Given the description of an element on the screen output the (x, y) to click on. 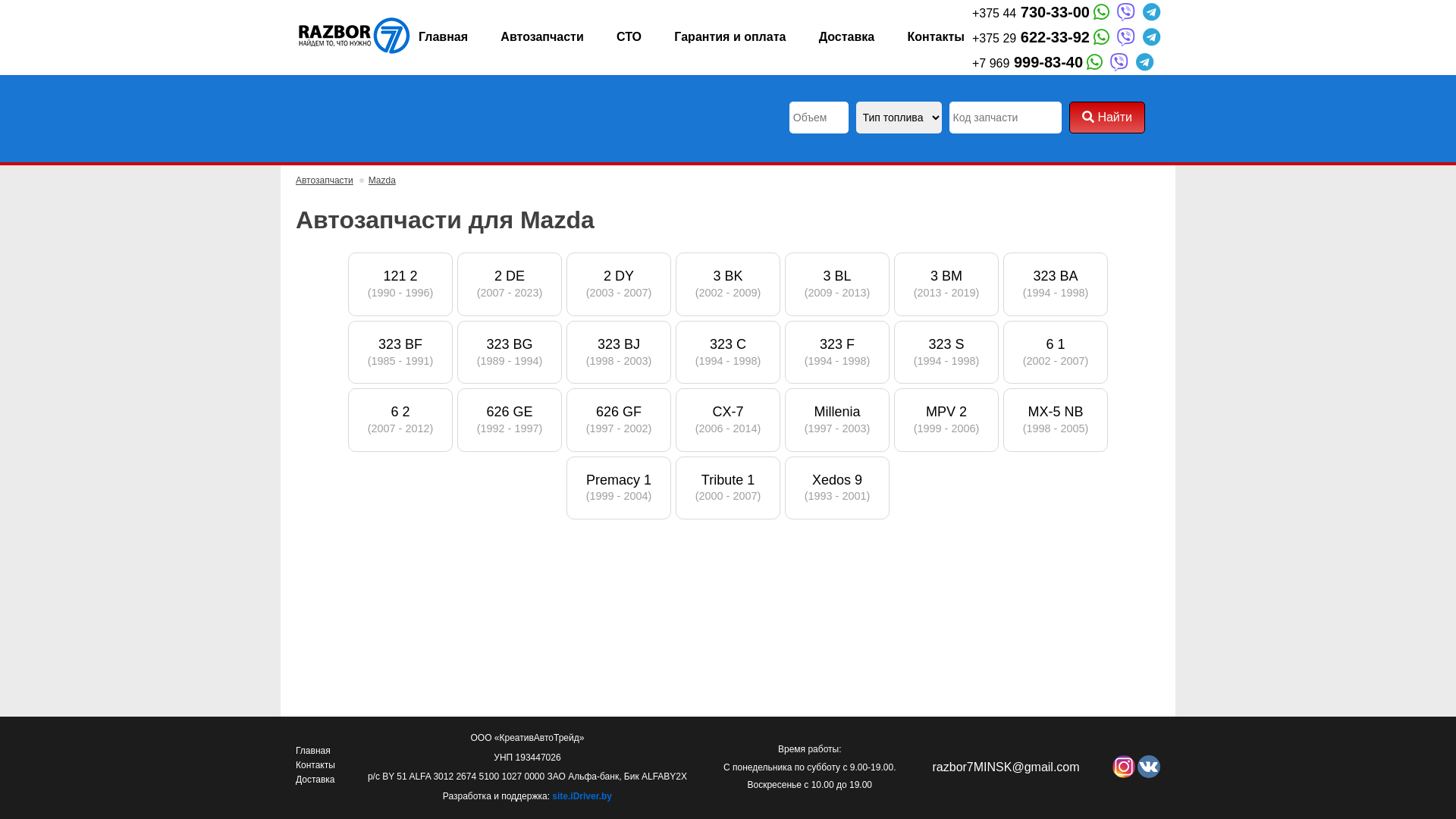
626 GE
(1992 - 1997) Element type: text (509, 419)
+375 44
 730-33-00 Element type: text (1032, 12)
Millenia
(1997 - 2003) Element type: text (836, 419)
626 GF
(1997 - 2002) Element type: text (618, 419)
Mazda Element type: text (381, 180)
323 S
(1994 - 1998) Element type: text (945, 351)
323 F
(1994 - 1998) Element type: text (836, 351)
+7 969
 999-83-40 Element type: text (1029, 62)
+375 29
 622-33-92 Element type: text (1032, 37)
6 1
(2002 - 2007) Element type: text (1055, 351)
2 DE
(2007 - 2023) Element type: text (509, 283)
323 BJ
(1998 - 2003) Element type: text (618, 351)
323 BA
(1994 - 1998) Element type: text (1055, 283)
3 BL
(2009 - 2013) Element type: text (836, 283)
121 2
(1990 - 1996) Element type: text (399, 283)
MX-5 NB
(1998 - 2005) Element type: text (1055, 419)
2 DY
(2003 - 2007) Element type: text (618, 283)
site.iDriver.by Element type: text (581, 795)
323 BF
(1985 - 1991) Element type: text (399, 351)
Tribute 1
(2000 - 2007) Element type: text (727, 487)
323 C
(1994 - 1998) Element type: text (727, 351)
CX-7
(2006 - 2014) Element type: text (727, 419)
323 BG
(1989 - 1994) Element type: text (509, 351)
6 2
(2007 - 2012) Element type: text (399, 419)
Premacy 1
(1999 - 2004) Element type: text (618, 487)
3 BK
(2002 - 2009) Element type: text (727, 283)
razbor7MINSK@gmail.com Element type: text (1005, 767)
3 BM
(2013 - 2019) Element type: text (945, 283)
MPV 2
(1999 - 2006) Element type: text (945, 419)
Xedos 9
(1993 - 2001) Element type: text (836, 487)
